Given the description of an element on the screen output the (x, y) to click on. 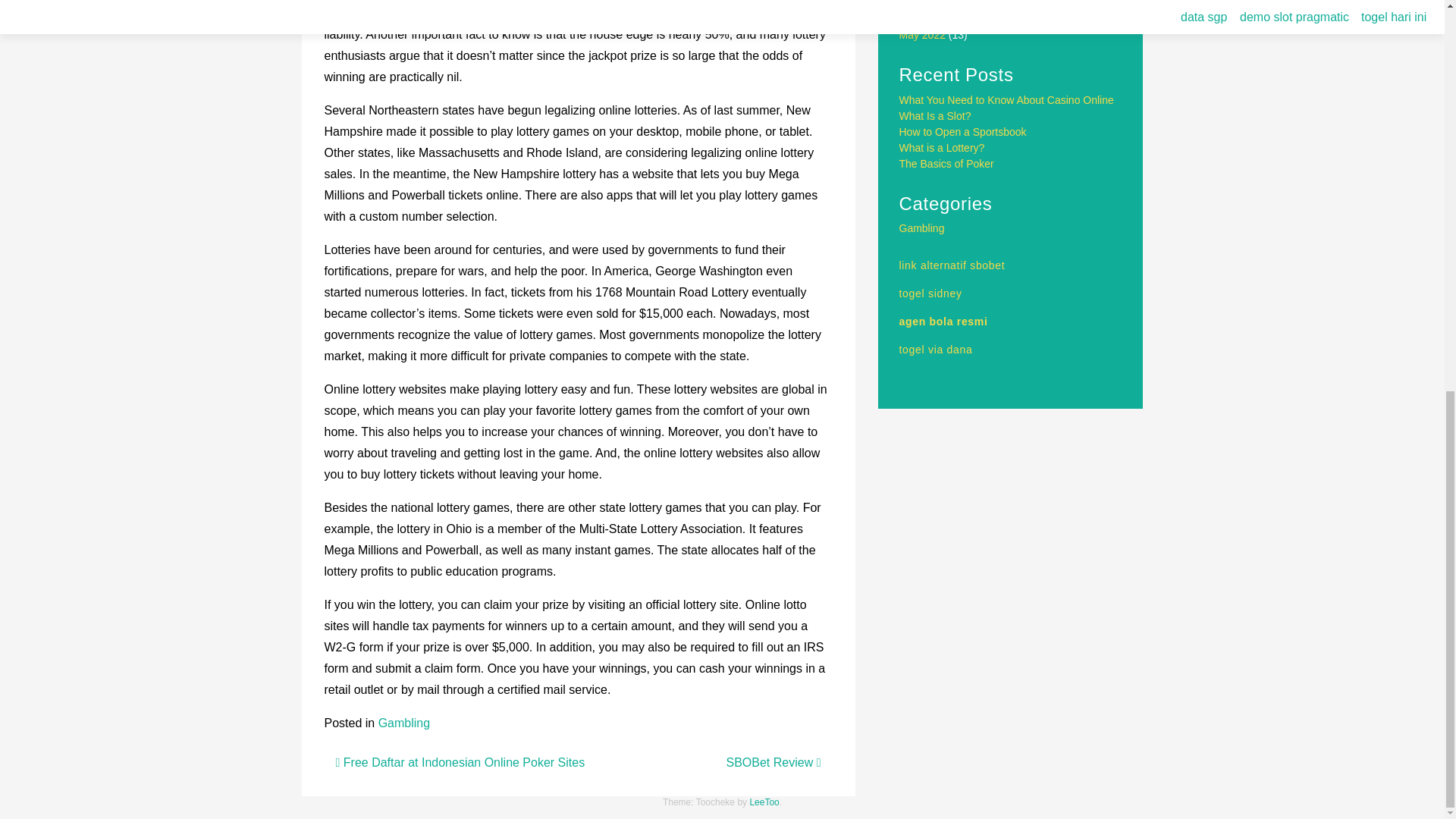
June 2022 (924, 19)
May 2022 (921, 34)
July 2022 (921, 4)
SBOBet Review  (773, 762)
What Is a Slot? (935, 115)
The Basics of Poker (946, 163)
What You Need to Know About Casino Online (1006, 100)
Gambling (403, 722)
What is a Lottery? (942, 147)
How to Open a Sportsbook (962, 132)
 Free Daftar at Indonesian Online Poker Sites (459, 762)
